Given the description of an element on the screen output the (x, y) to click on. 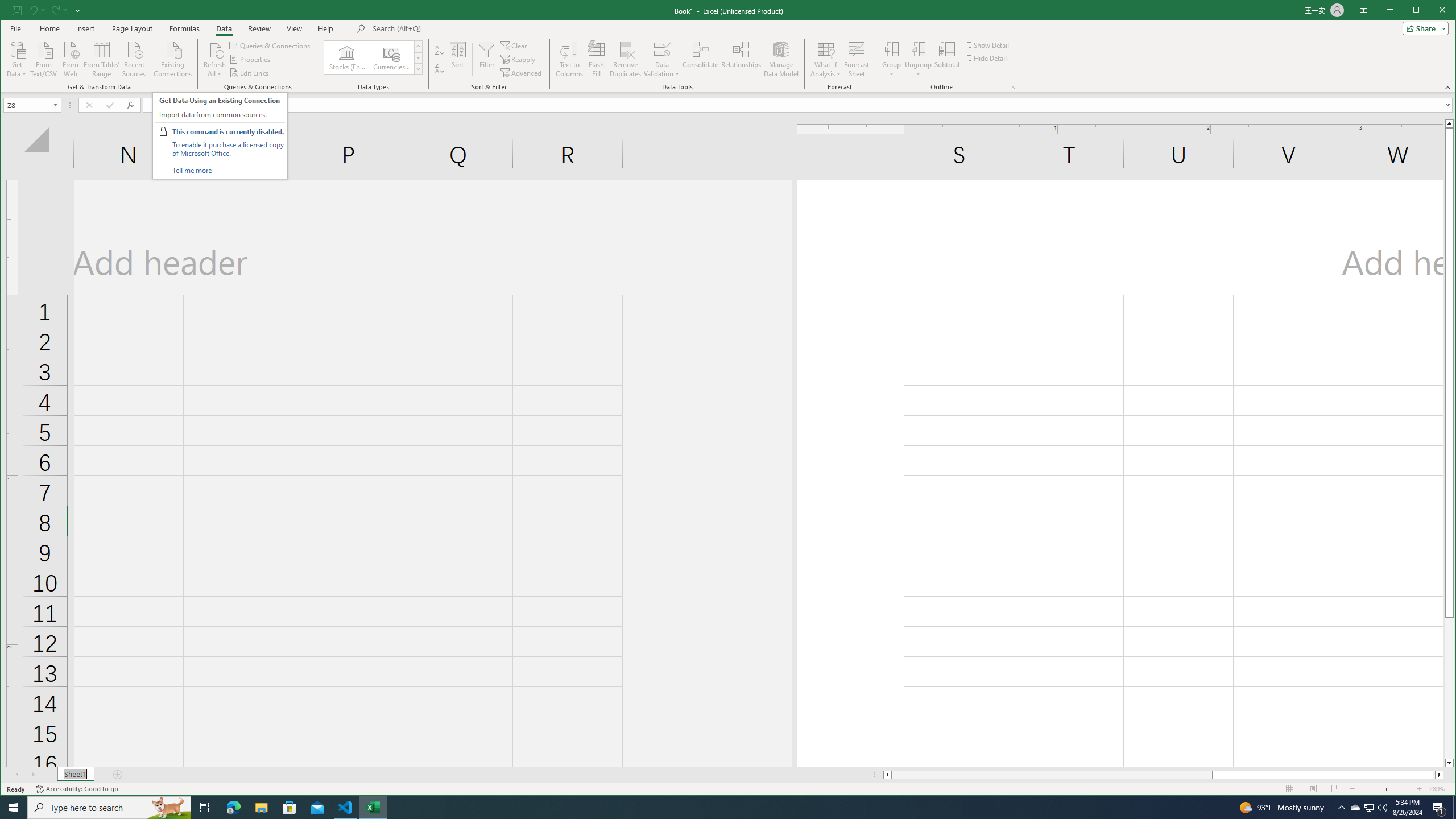
Start (13, 807)
